Given the description of an element on the screen output the (x, y) to click on. 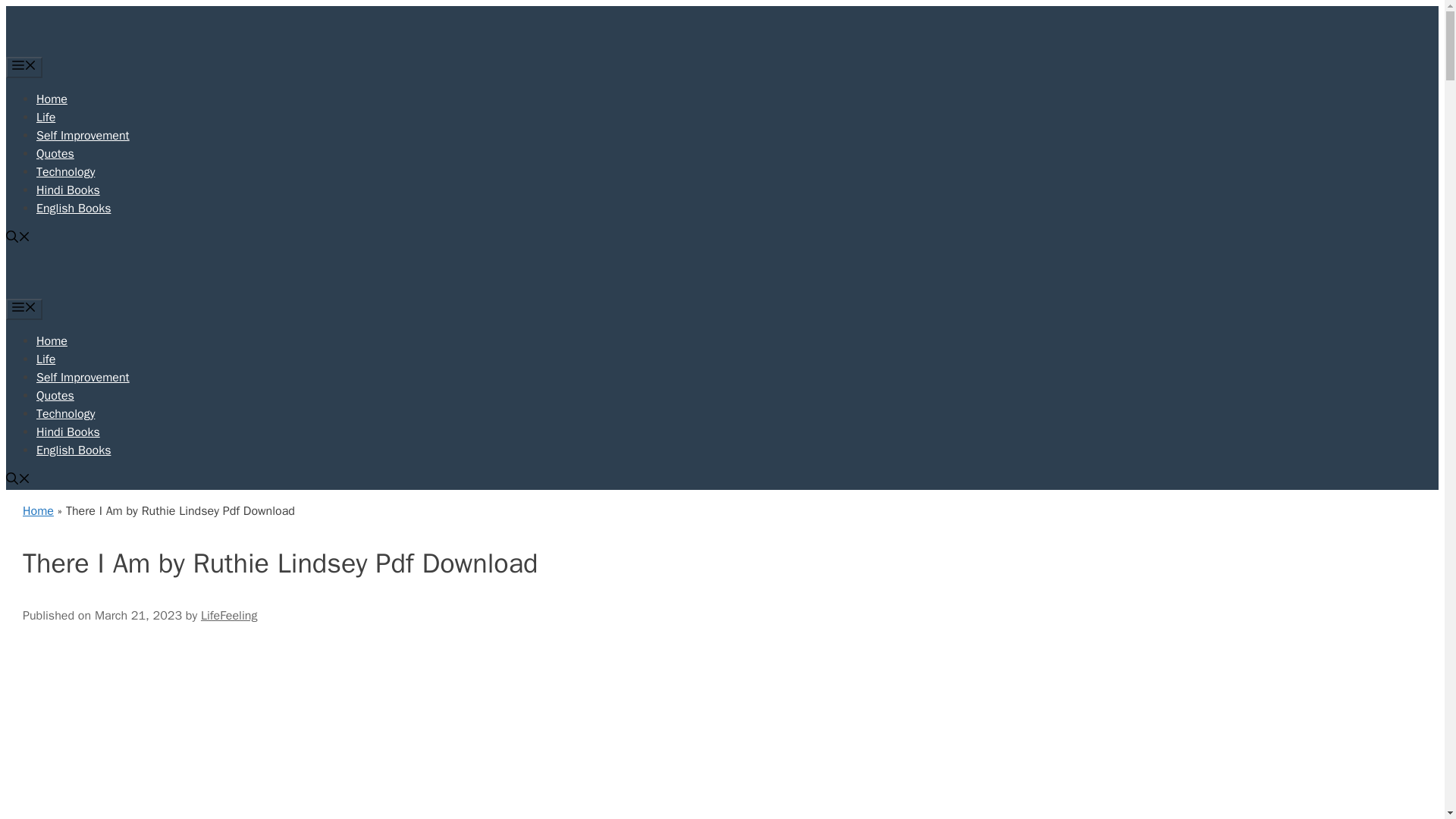
LifeFeeling (117, 270)
Life (45, 117)
Quotes (55, 395)
Quotes (55, 153)
English Books (73, 208)
LifeFeeling (228, 615)
Self Improvement (82, 135)
Hindi Books (68, 432)
Life (45, 359)
Home (38, 510)
